Given the description of an element on the screen output the (x, y) to click on. 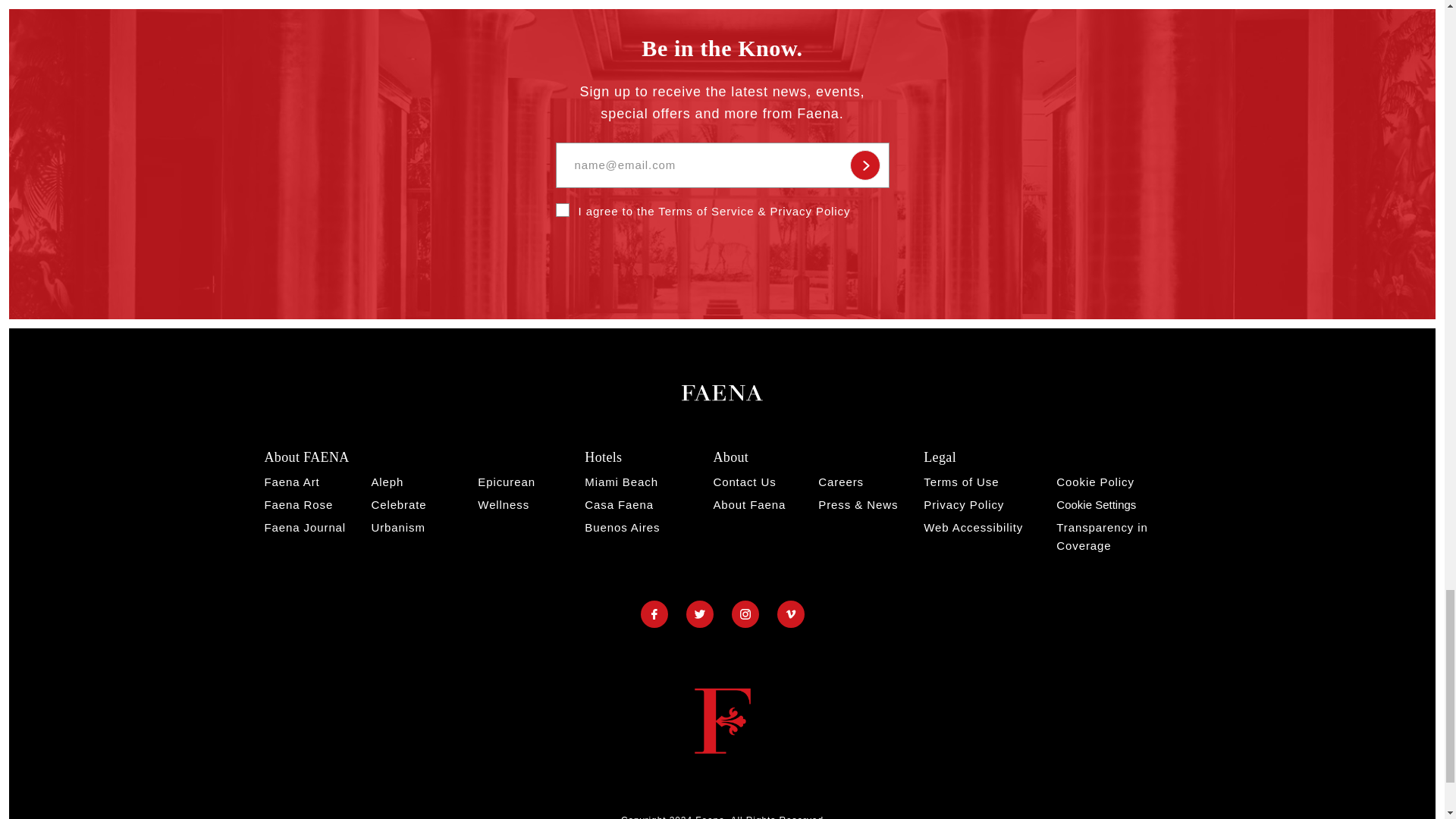
Submit (863, 164)
1 (561, 210)
